Given the description of an element on the screen output the (x, y) to click on. 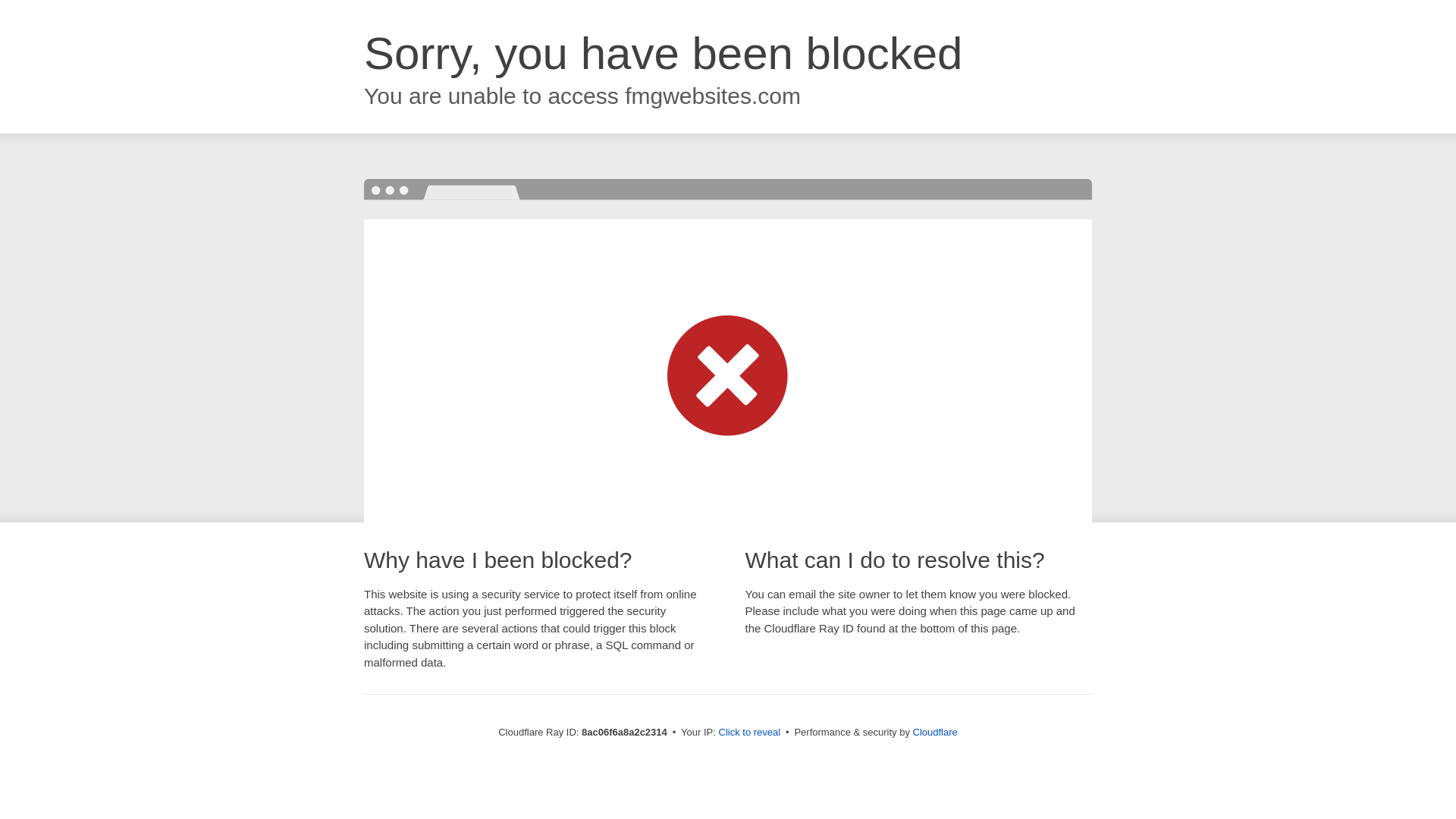
Click to reveal (749, 732)
Cloudflare (935, 731)
